Given the description of an element on the screen output the (x, y) to click on. 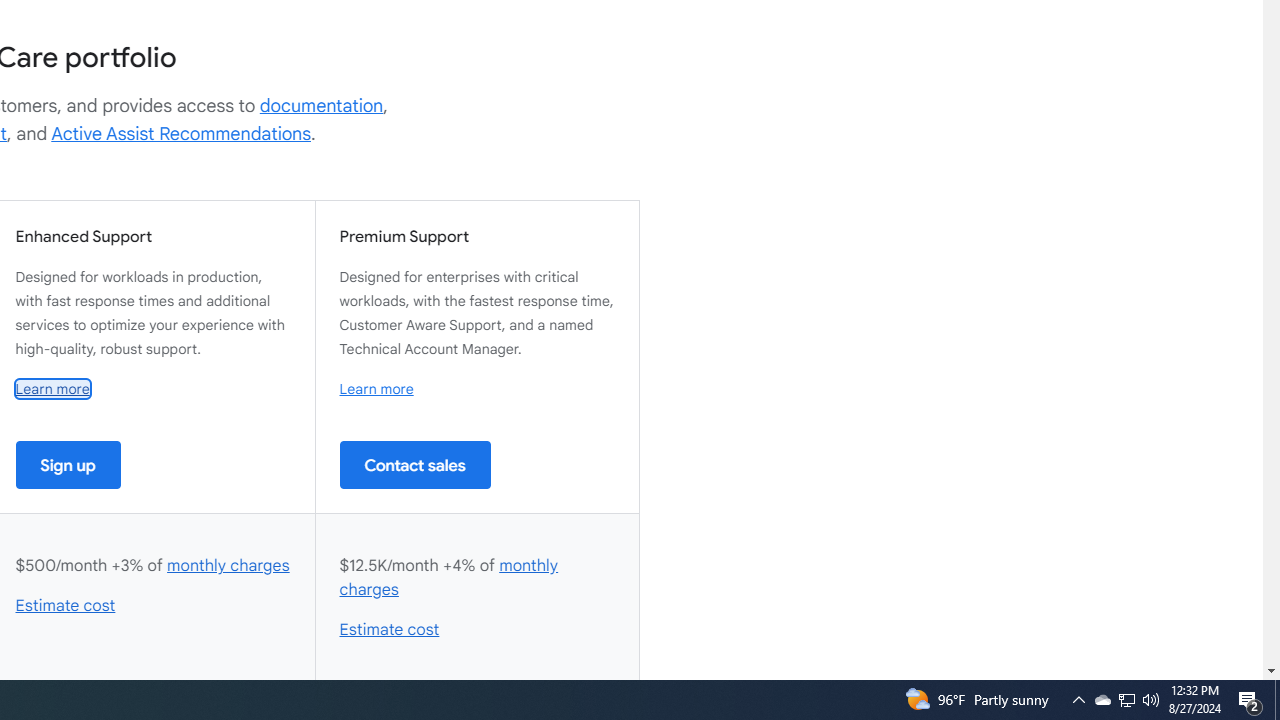
Sign up (68, 464)
Active Assist Recommendations (181, 133)
documentation (321, 105)
Contact sales (415, 464)
Learn more (376, 389)
monthly charges (449, 577)
Estimate cost (389, 629)
